Given the description of an element on the screen output the (x, y) to click on. 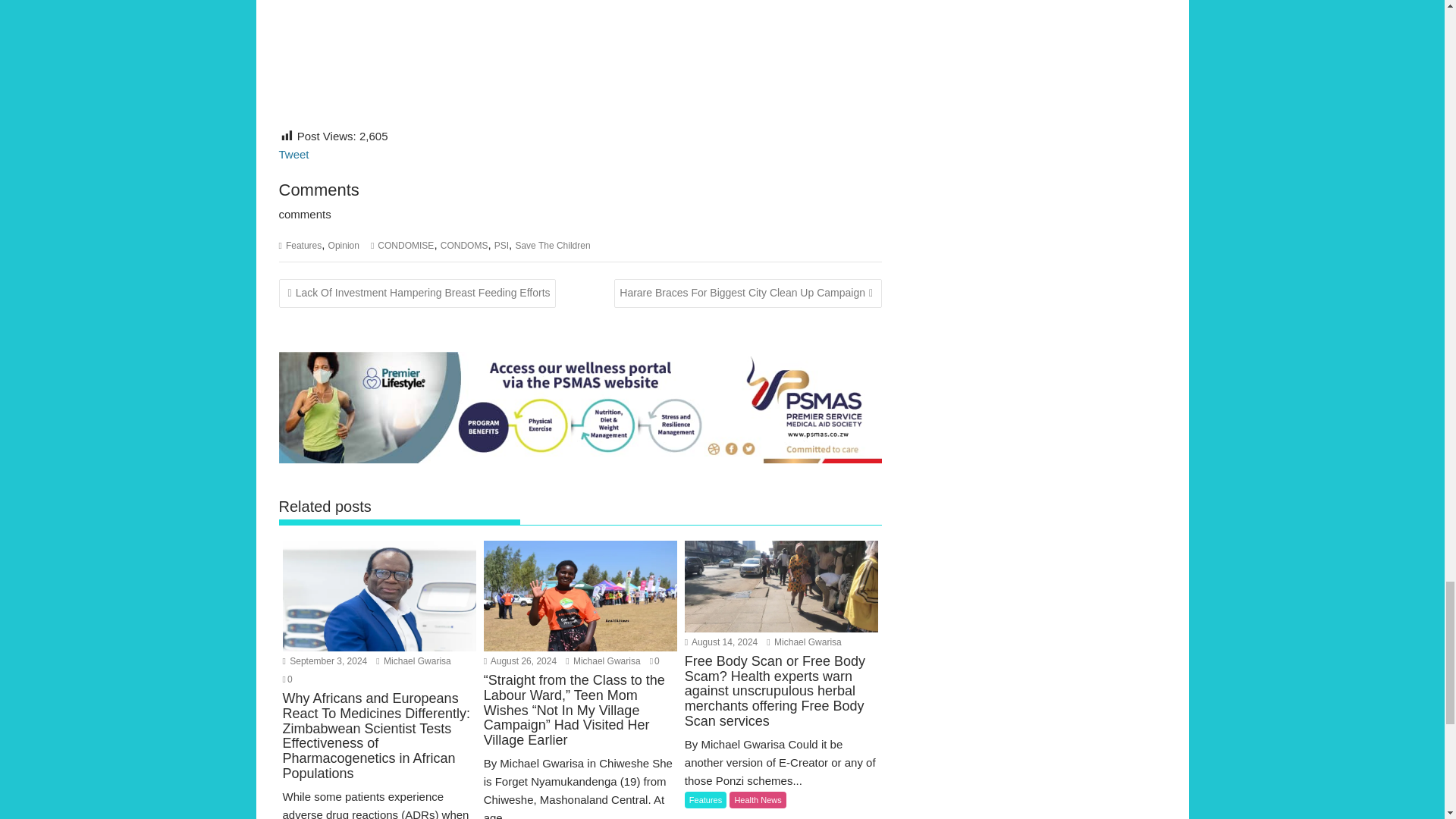
Michael Gwarisa (603, 661)
Michael Gwarisa (412, 661)
Michael Gwarisa (804, 642)
